Given the description of an element on the screen output the (x, y) to click on. 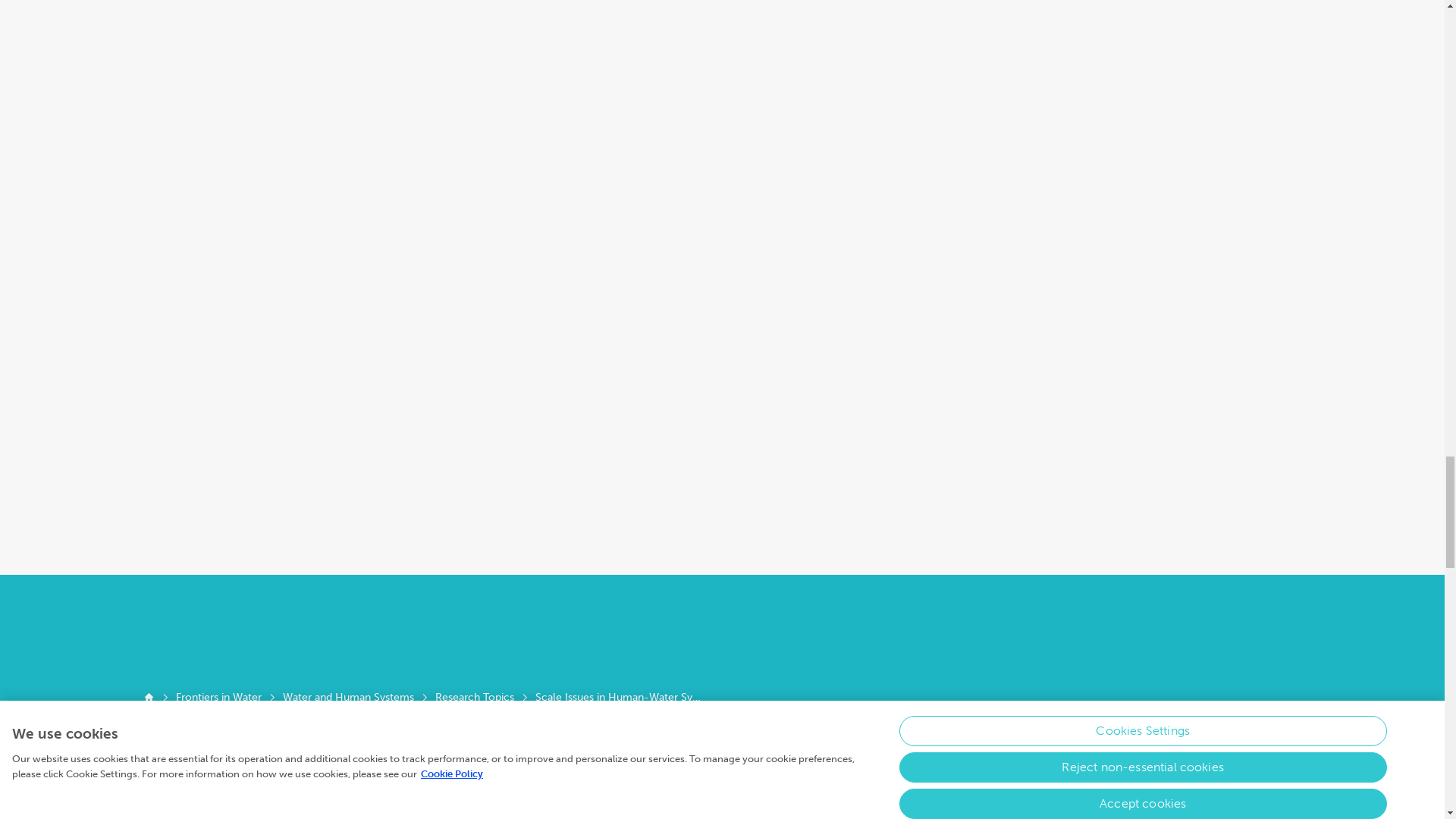
Frontiers in Water (219, 697)
Research Topics (474, 697)
Scale Issues in Human-Water Systems (618, 697)
Water and Human Systems (347, 697)
